Given the description of an element on the screen output the (x, y) to click on. 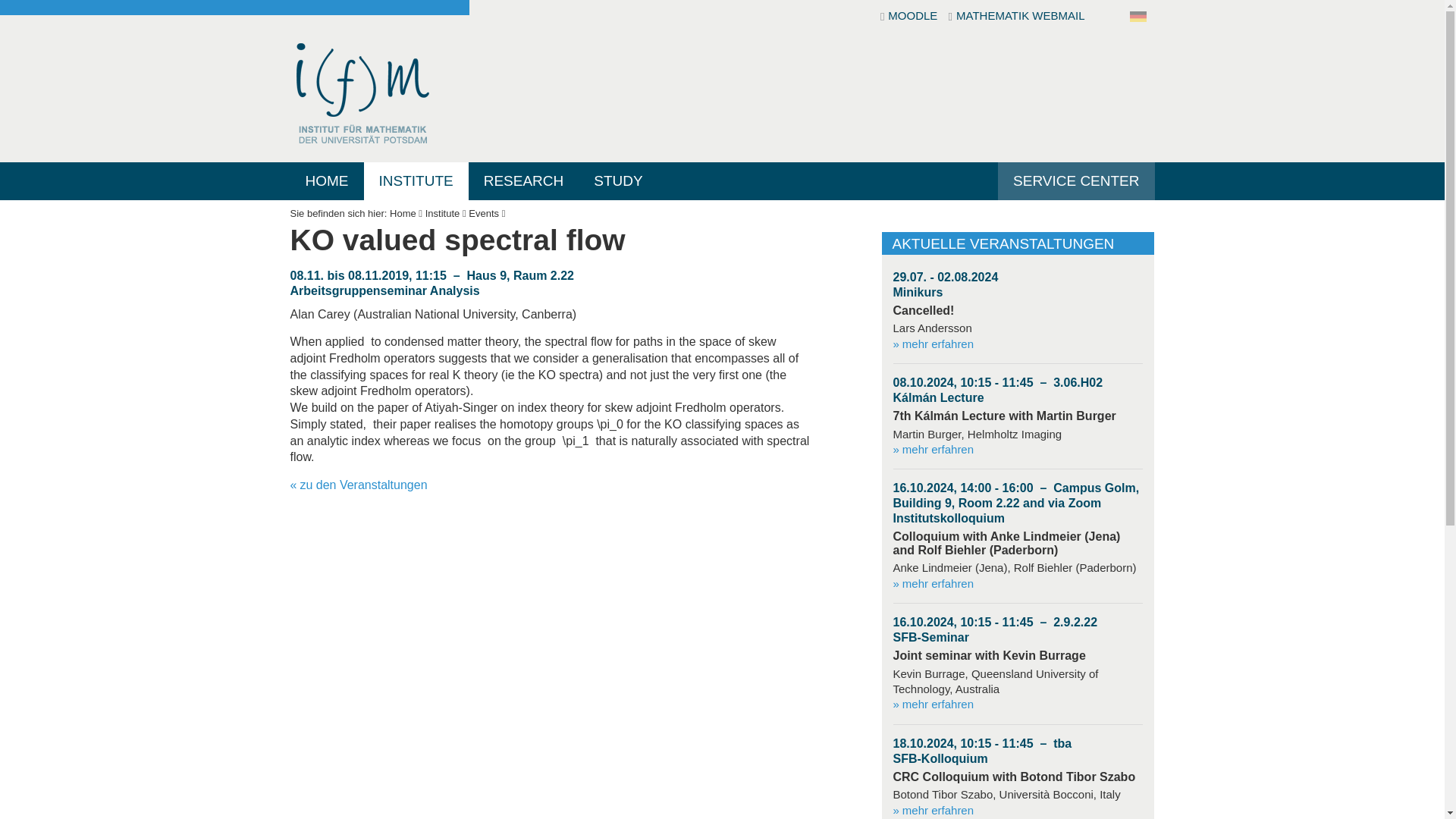
RESEARCH (523, 180)
MOODLE (910, 18)
MATHEMATIK WEBMAIL (1016, 18)
HOME (325, 180)
INSTITUTE (416, 180)
